Given the description of an element on the screen output the (x, y) to click on. 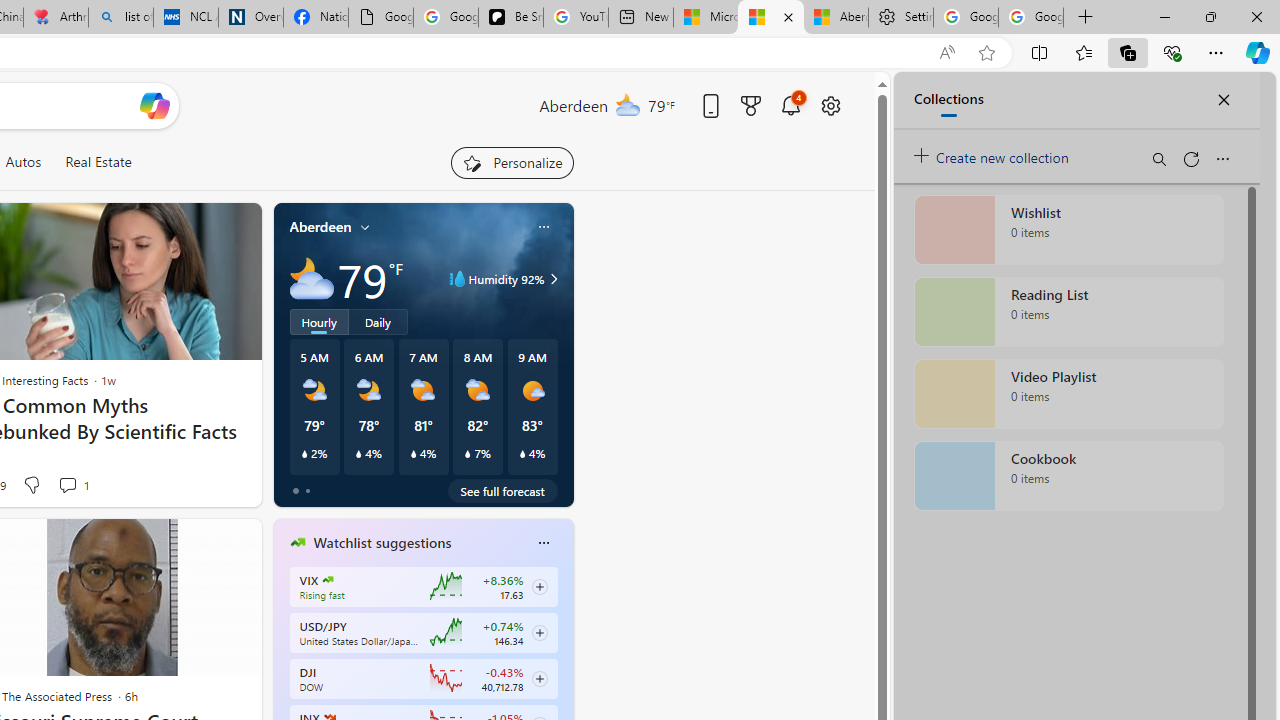
Mostly cloudy (311, 278)
Notifications (790, 105)
list of asthma inhalers uk - Search (120, 17)
Dislike (30, 484)
Hourly (319, 321)
next (563, 670)
Be Smart | creating Science videos | Patreon (510, 17)
